Given the description of an element on the screen output the (x, y) to click on. 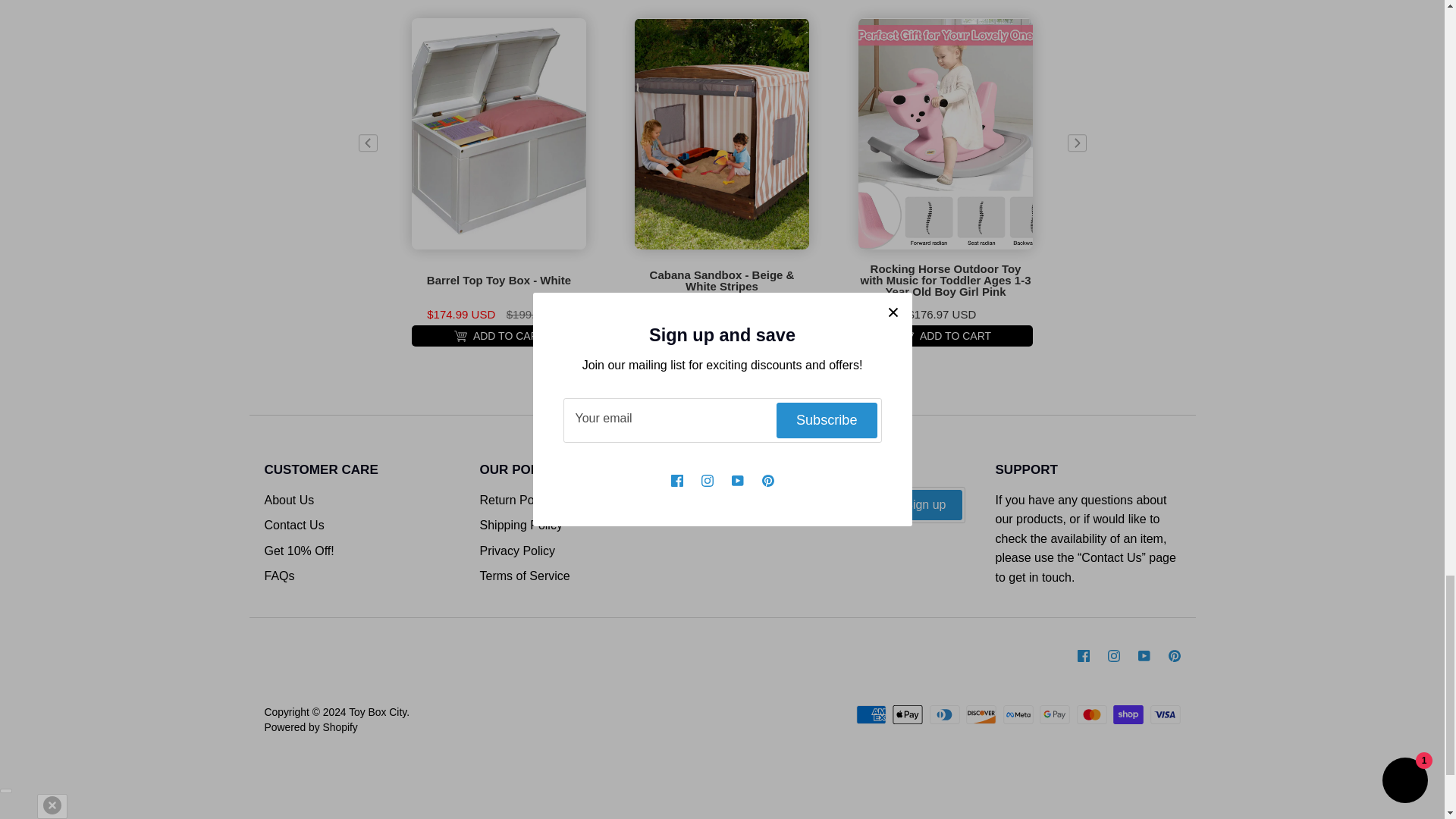
Contact Us (1111, 557)
